Given the description of an element on the screen output the (x, y) to click on. 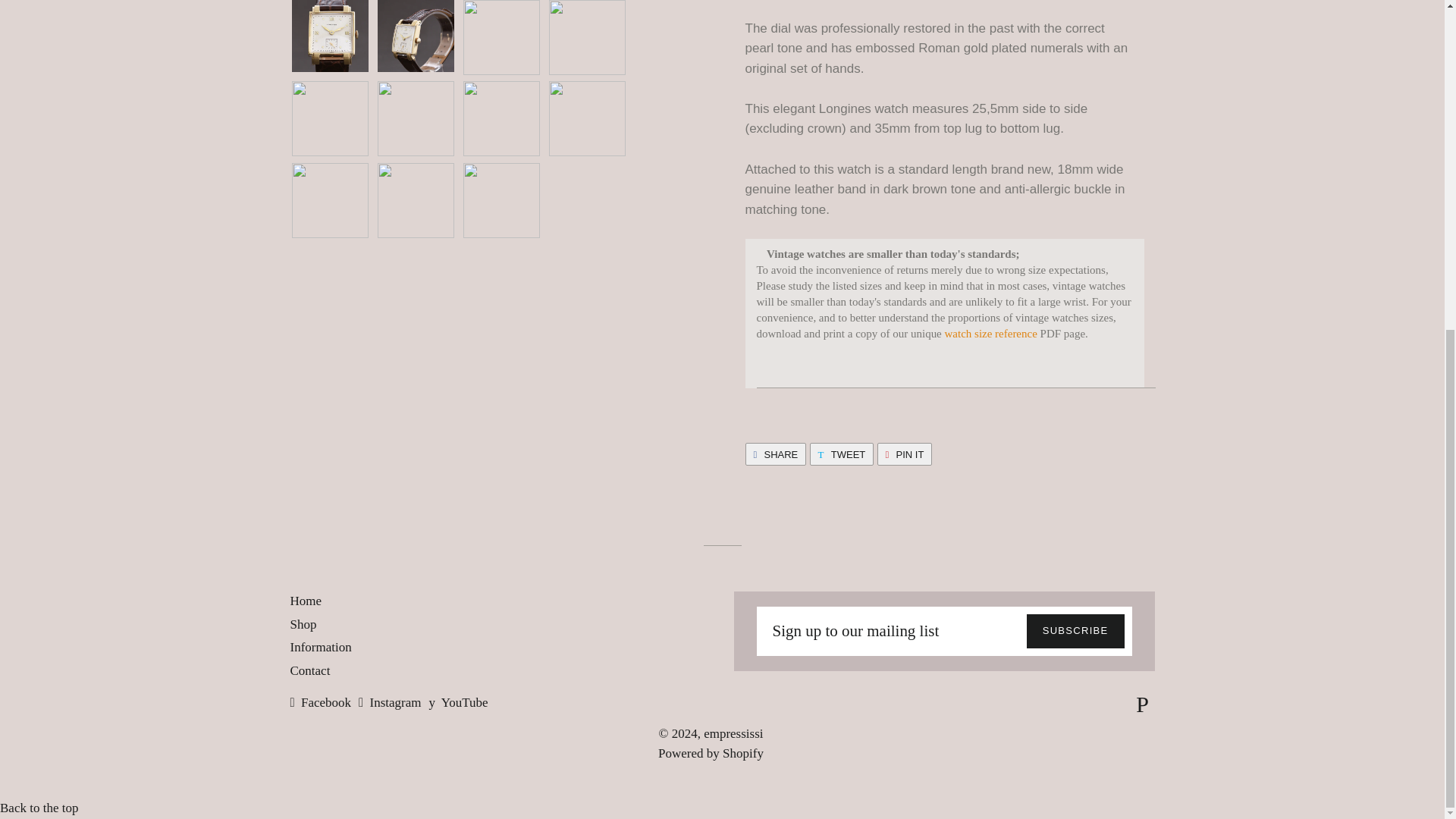
empressissi on Instagram (389, 702)
Share on Facebook (775, 454)
empressissi on Facebook (319, 702)
Tweet on Twitter (842, 454)
Vintage watches size reference (990, 333)
Pin on Pinterest (903, 454)
Back to the top (39, 807)
empressissi on YouTube (458, 702)
